Given the description of an element on the screen output the (x, y) to click on. 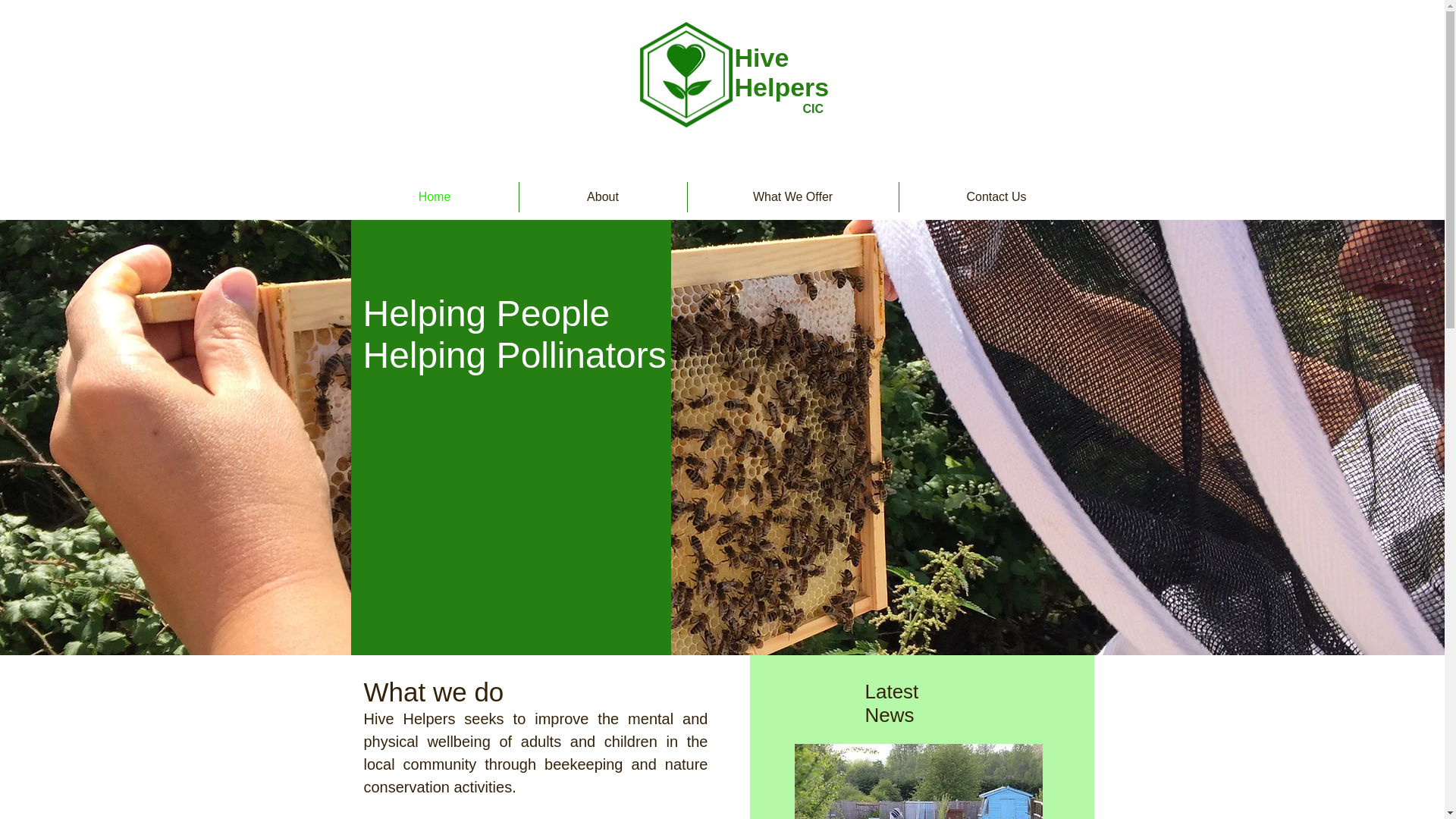
Home (434, 196)
Contact Us (996, 196)
